Given the description of an element on the screen output the (x, y) to click on. 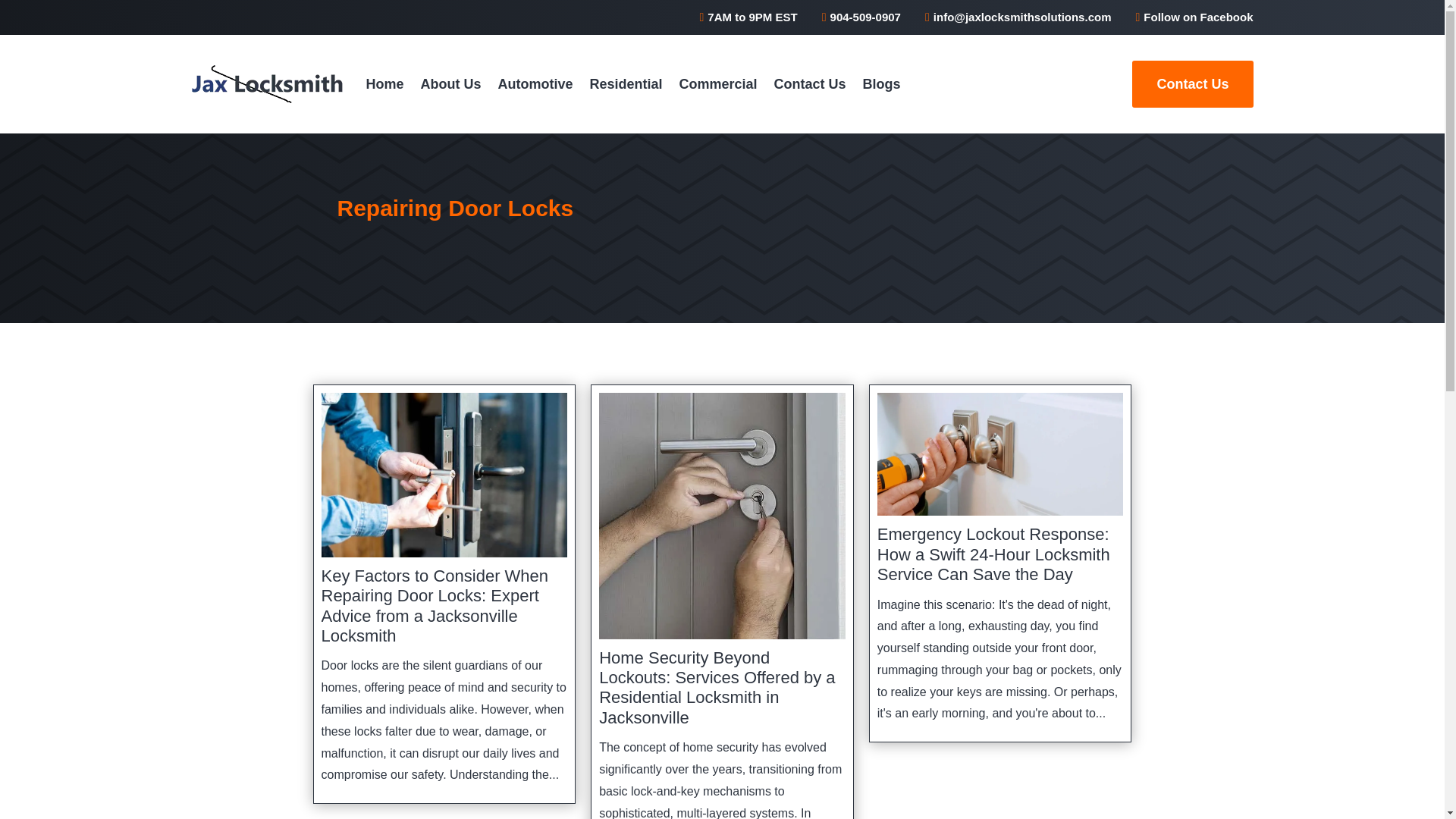
Contact Us (809, 84)
Residential (625, 84)
About Us (450, 84)
Automotive (535, 84)
Contact Us (1192, 84)
Commercial (718, 84)
